Given the description of an element on the screen output the (x, y) to click on. 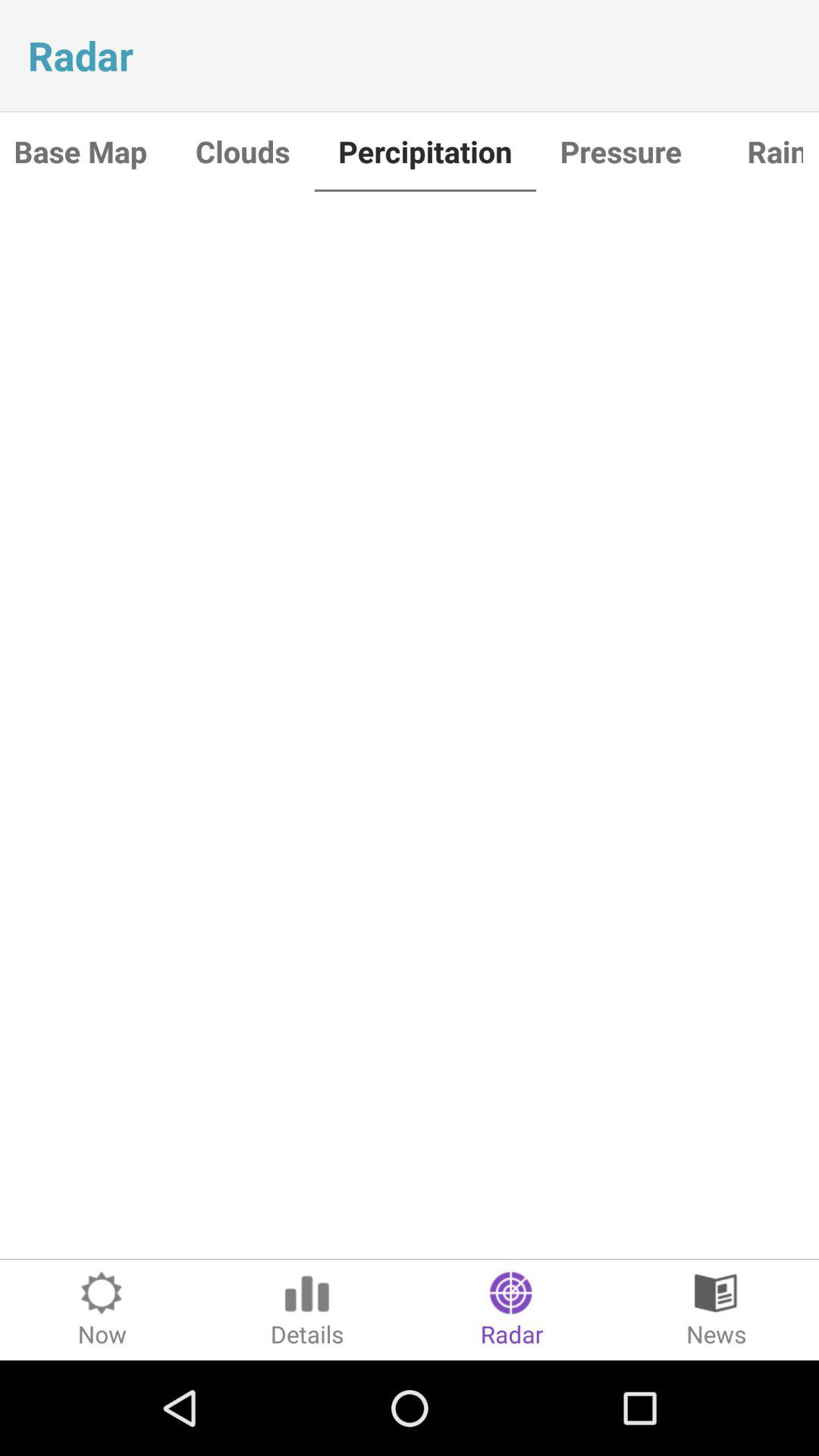
jump until now (102, 1310)
